Given the description of an element on the screen output the (x, y) to click on. 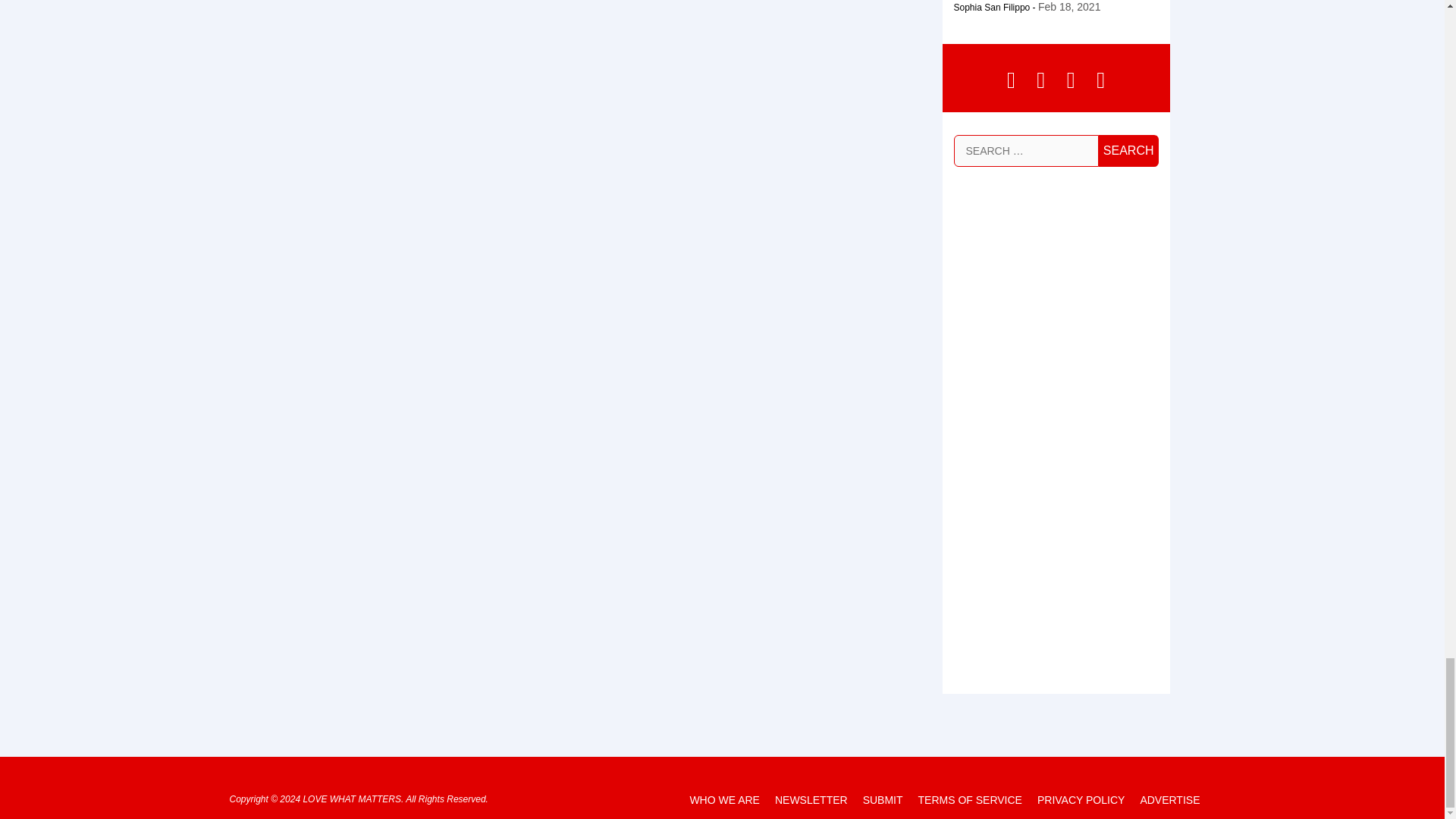
Search (1128, 151)
Search (1128, 151)
February 18, 2021 (1069, 6)
